Given the description of an element on the screen output the (x, y) to click on. 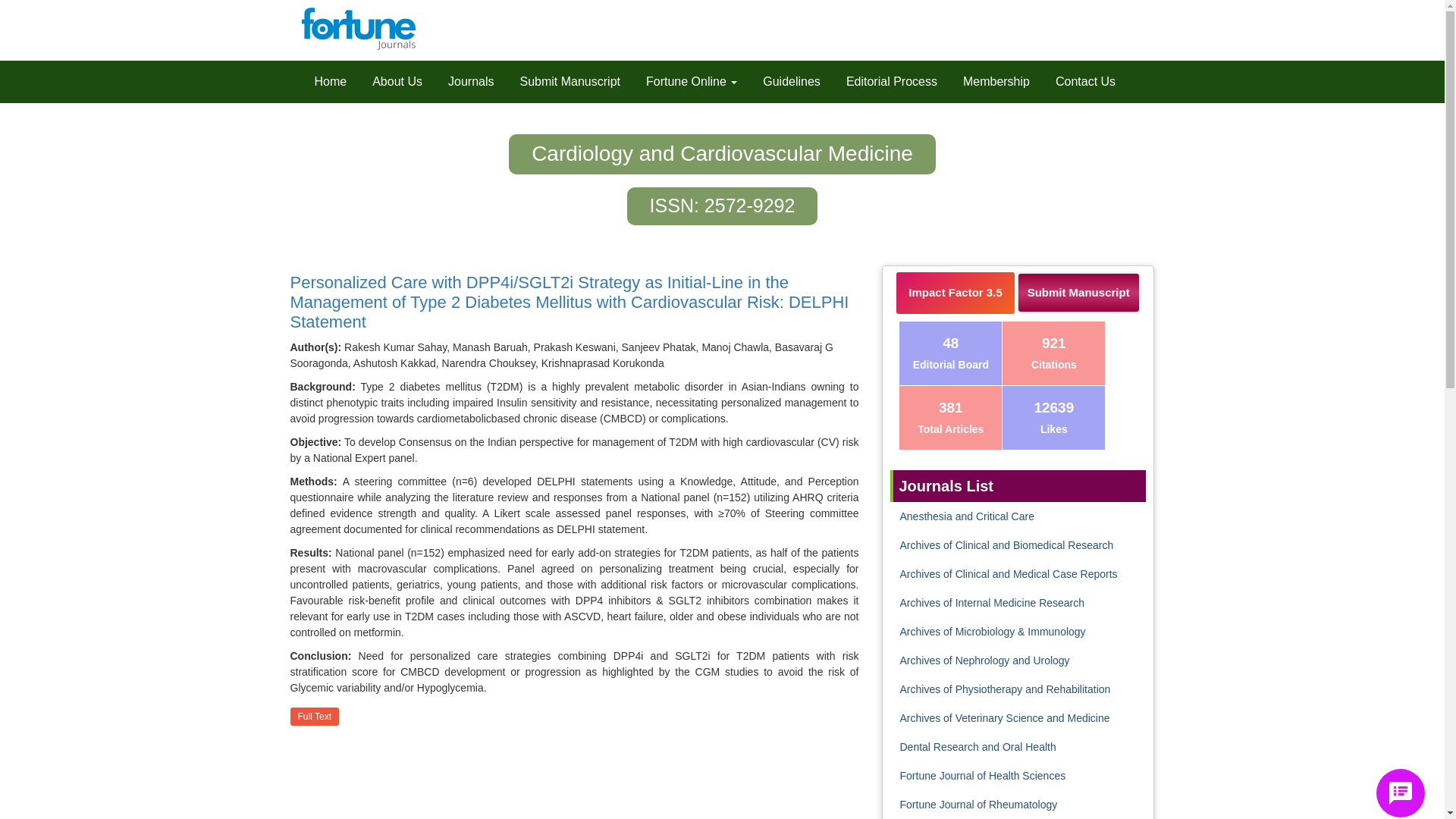
Fortune Online (691, 81)
Guidelines (791, 81)
Full Text (313, 716)
About Us (397, 81)
Archives of Clinical and Medical Case Reports (1007, 573)
Leave a message (1400, 793)
Membership (996, 81)
Anesthesia and Critical Care (966, 516)
Submit Manuscript (569, 81)
Archives of Nephrology and Urology (983, 660)
